Given the description of an element on the screen output the (x, y) to click on. 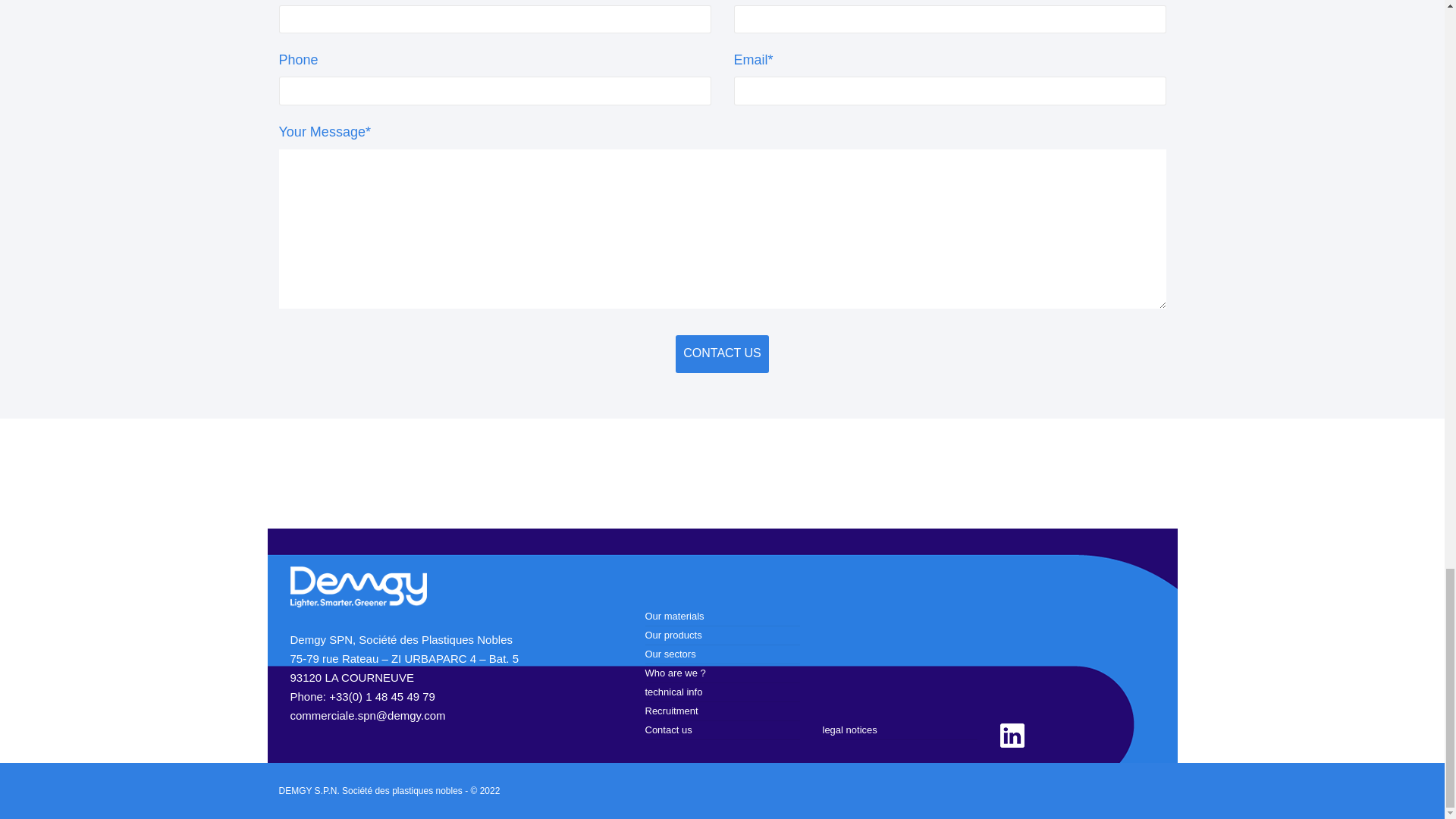
Contact us (721, 353)
